Given the description of an element on the screen output the (x, y) to click on. 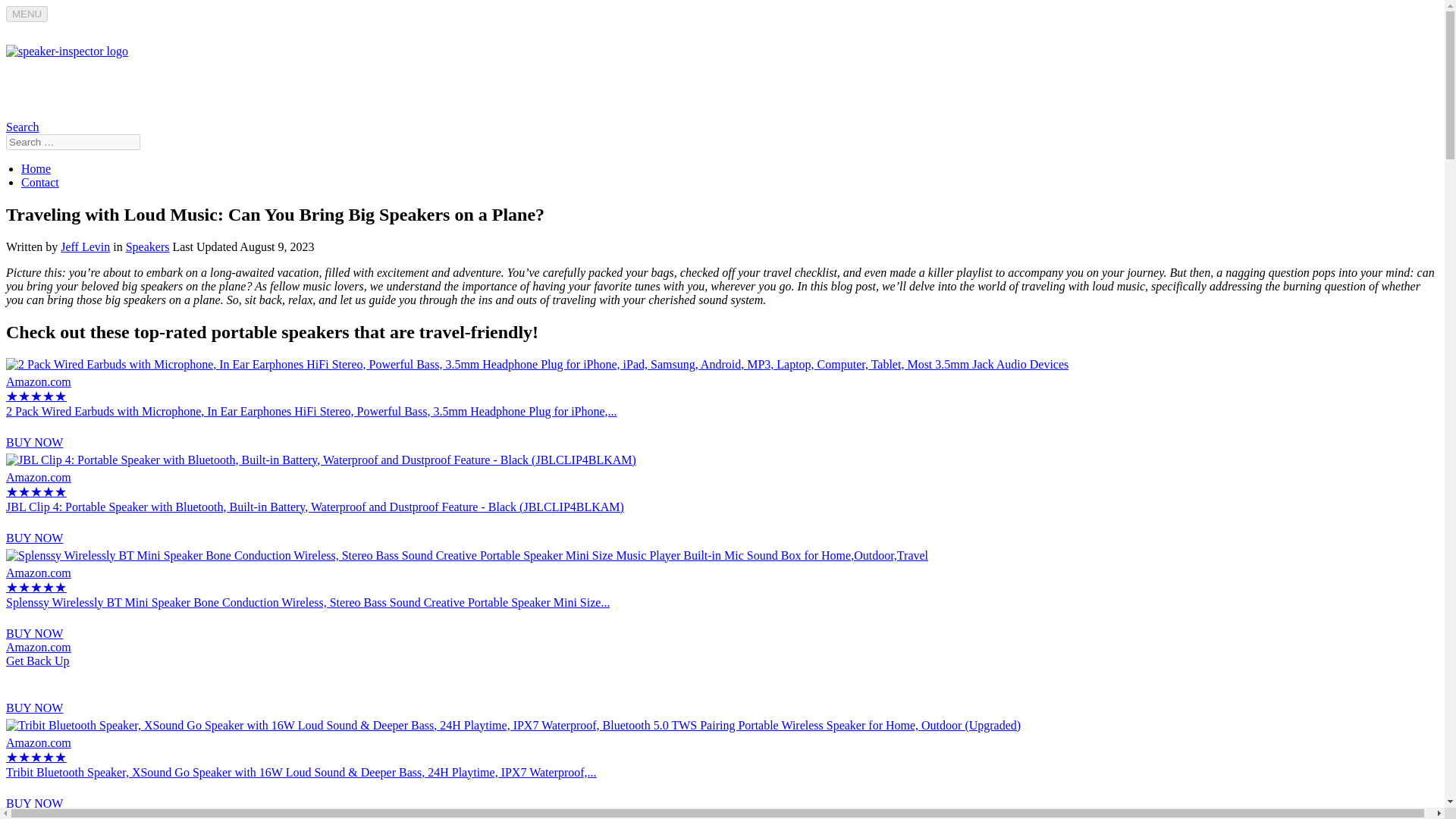
BUY NOW (33, 707)
MENU (721, 670)
Home (26, 13)
Search (35, 168)
Jeff Levin (22, 126)
BUY NOW (85, 246)
Contact (33, 633)
Speakers (40, 182)
BUY NOW (147, 246)
